Given the description of an element on the screen output the (x, y) to click on. 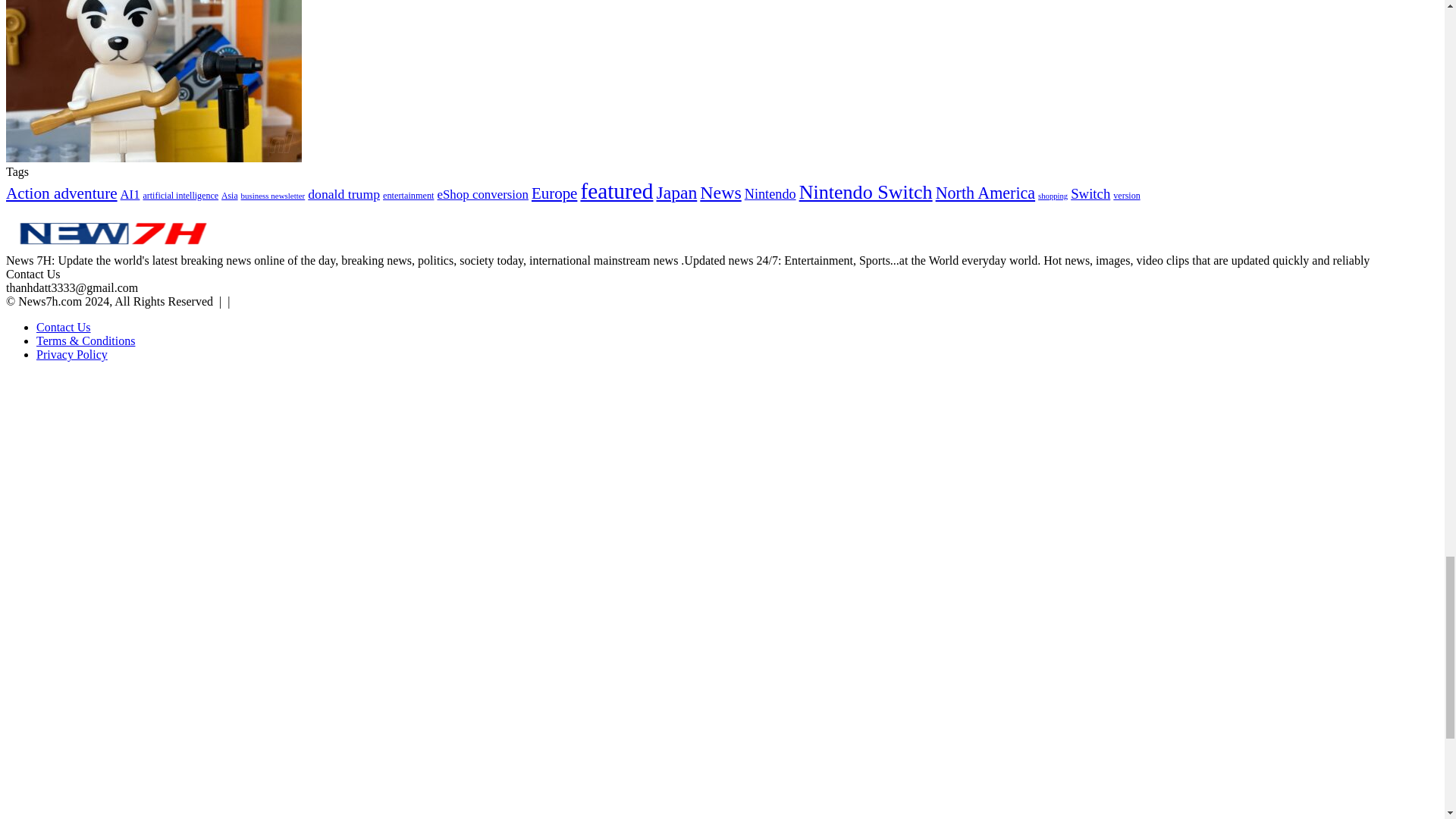
entertainment (407, 195)
artificial intelligence (180, 195)
donald trump (343, 193)
Action adventure (61, 193)
AI1 (129, 194)
Asia (229, 195)
business newsletter (273, 194)
